Given the description of an element on the screen output the (x, y) to click on. 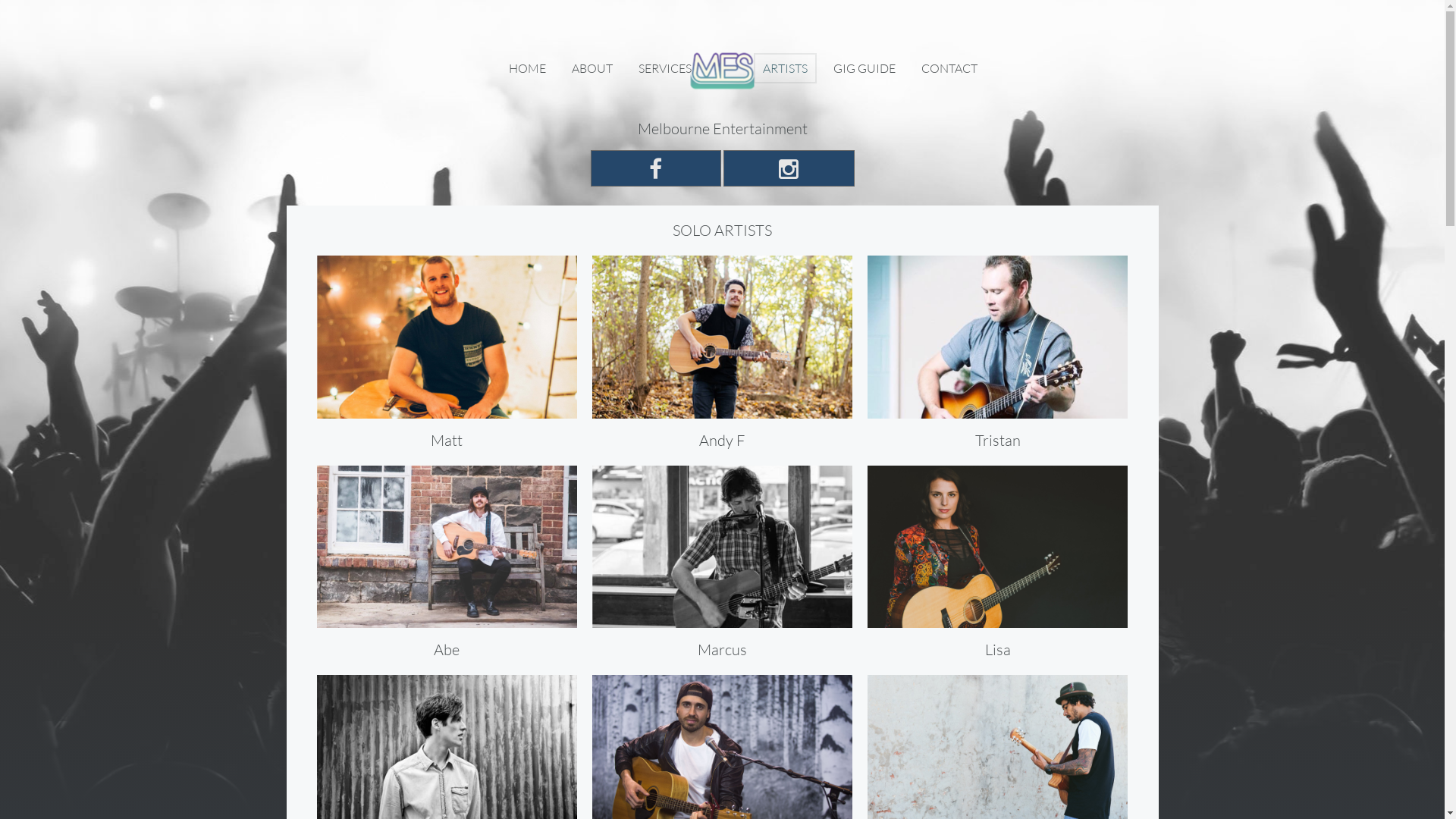
SERVICES Element type: text (664, 68)
ABOUT Element type: text (591, 68)
GIG GUIDE Element type: text (864, 68)
CONTACT Element type: text (949, 68)
HOME Element type: text (527, 68)
ARTISTS Element type: text (784, 68)
